Given the description of an element on the screen output the (x, y) to click on. 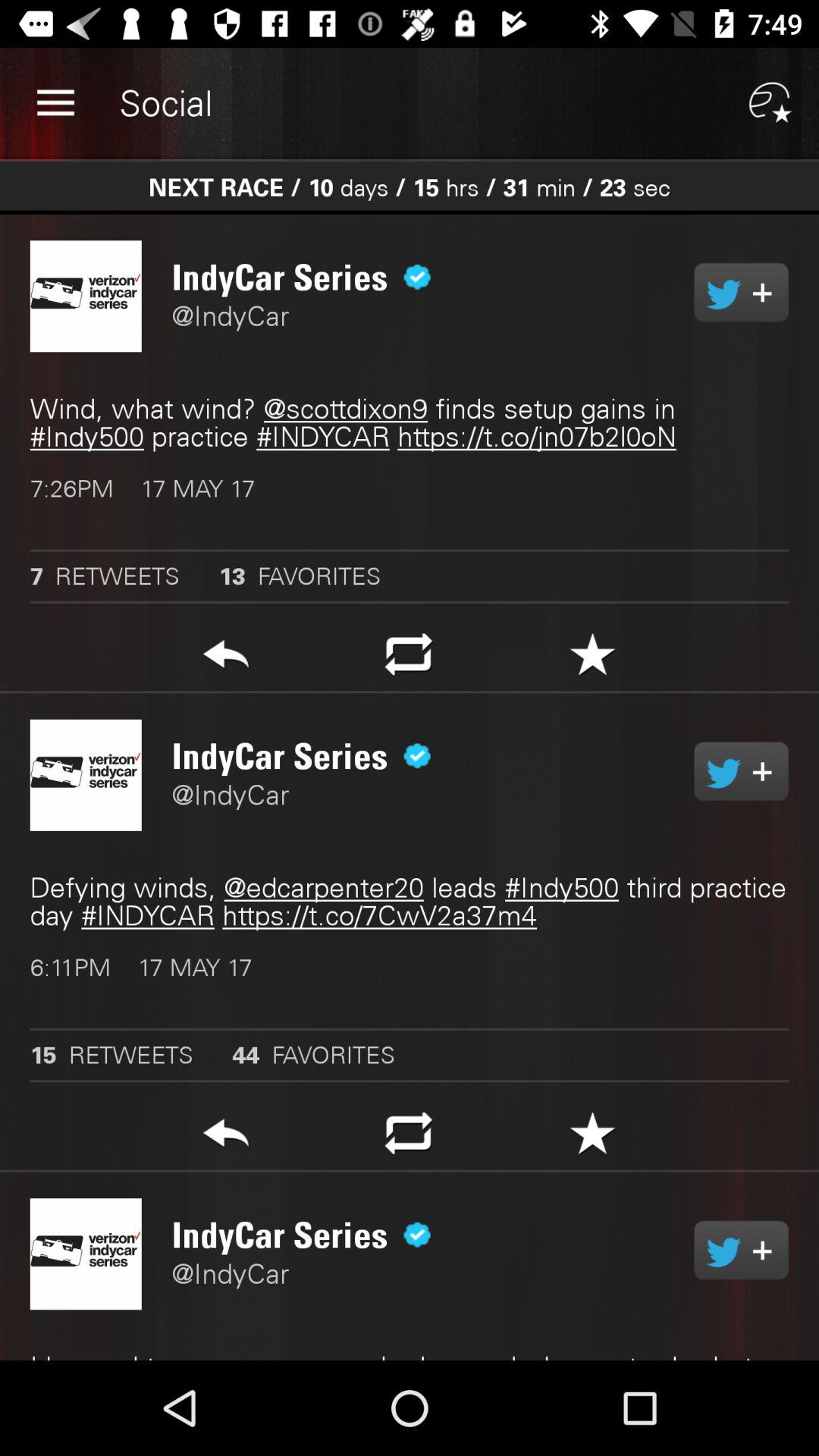
go to share (740, 770)
